Given the description of an element on the screen output the (x, y) to click on. 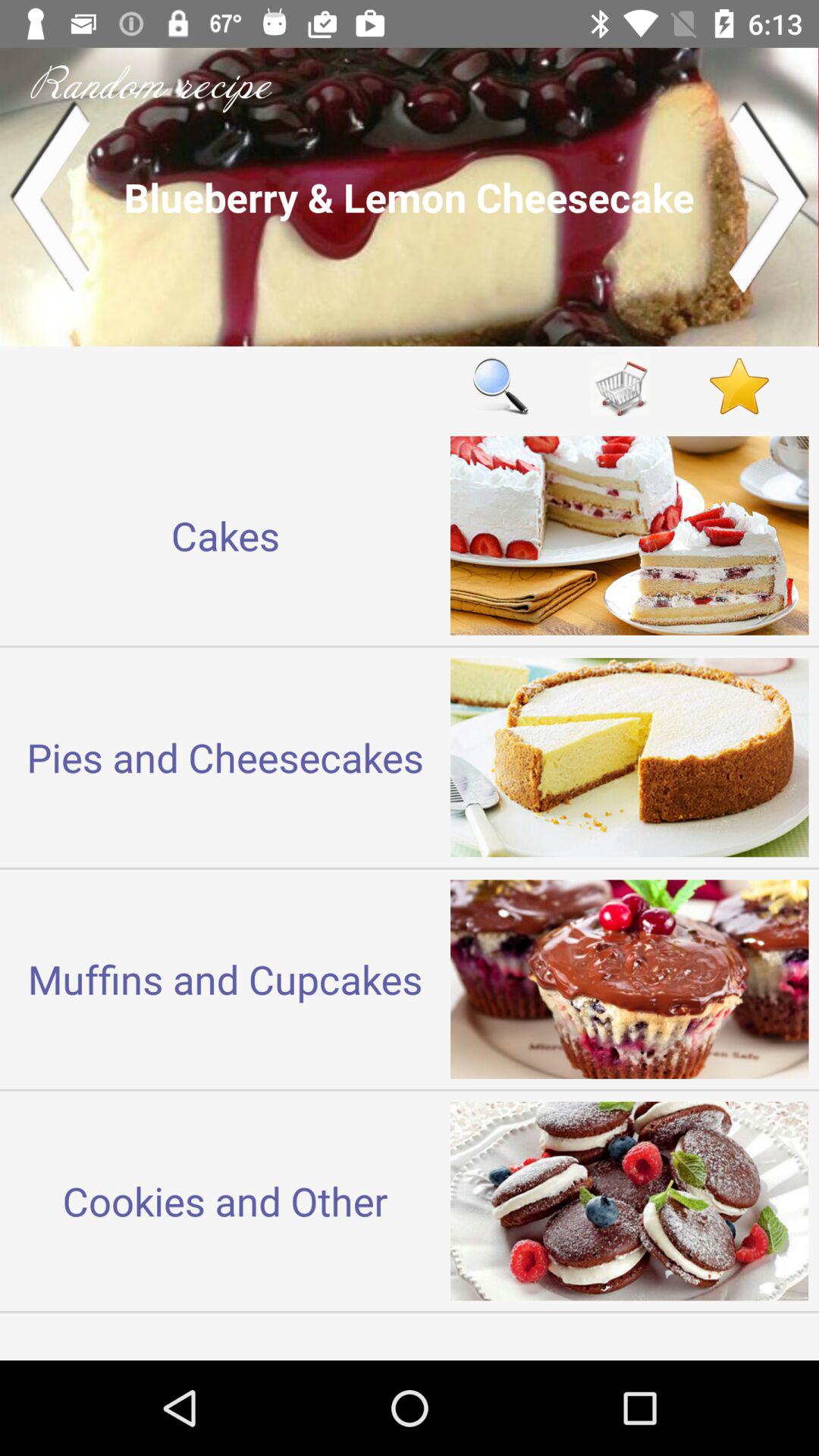
turn off the cakes item (225, 534)
